Given the description of an element on the screen output the (x, y) to click on. 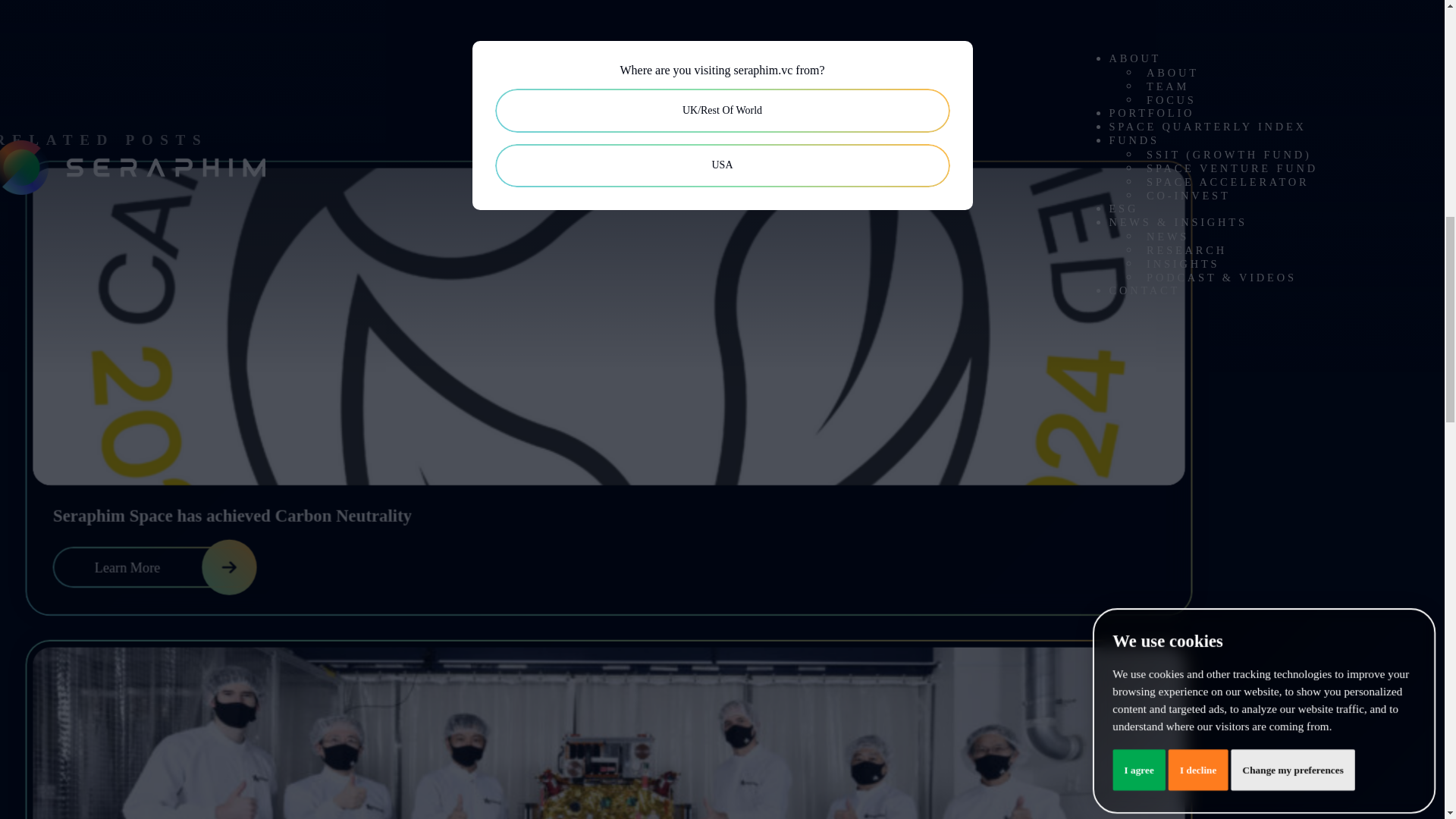
Learn More (159, 568)
